Given the description of an element on the screen output the (x, y) to click on. 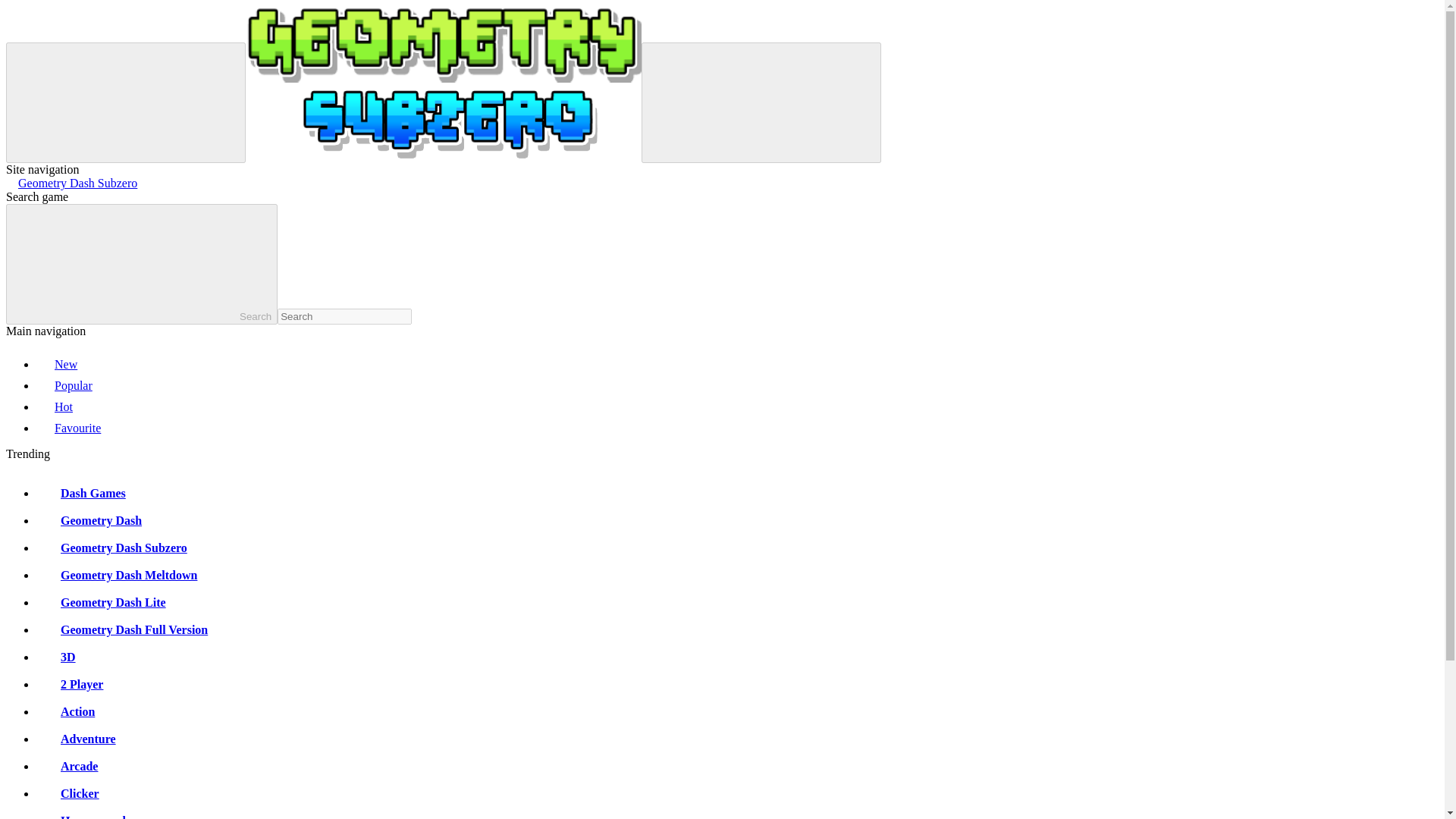
Hypercasual (80, 816)
2 Player (69, 684)
Geometry Dash Lite (100, 602)
Clicker (67, 793)
Search (141, 263)
Action (65, 711)
Arcade (66, 766)
Geometry Dash Subzero (111, 547)
Dash Games (80, 492)
Geometry Dash Full Version (122, 629)
Arcade (66, 766)
Favourite (68, 427)
Adventure (76, 738)
3D (55, 656)
Geometry Dash (88, 520)
